Given the description of an element on the screen output the (x, y) to click on. 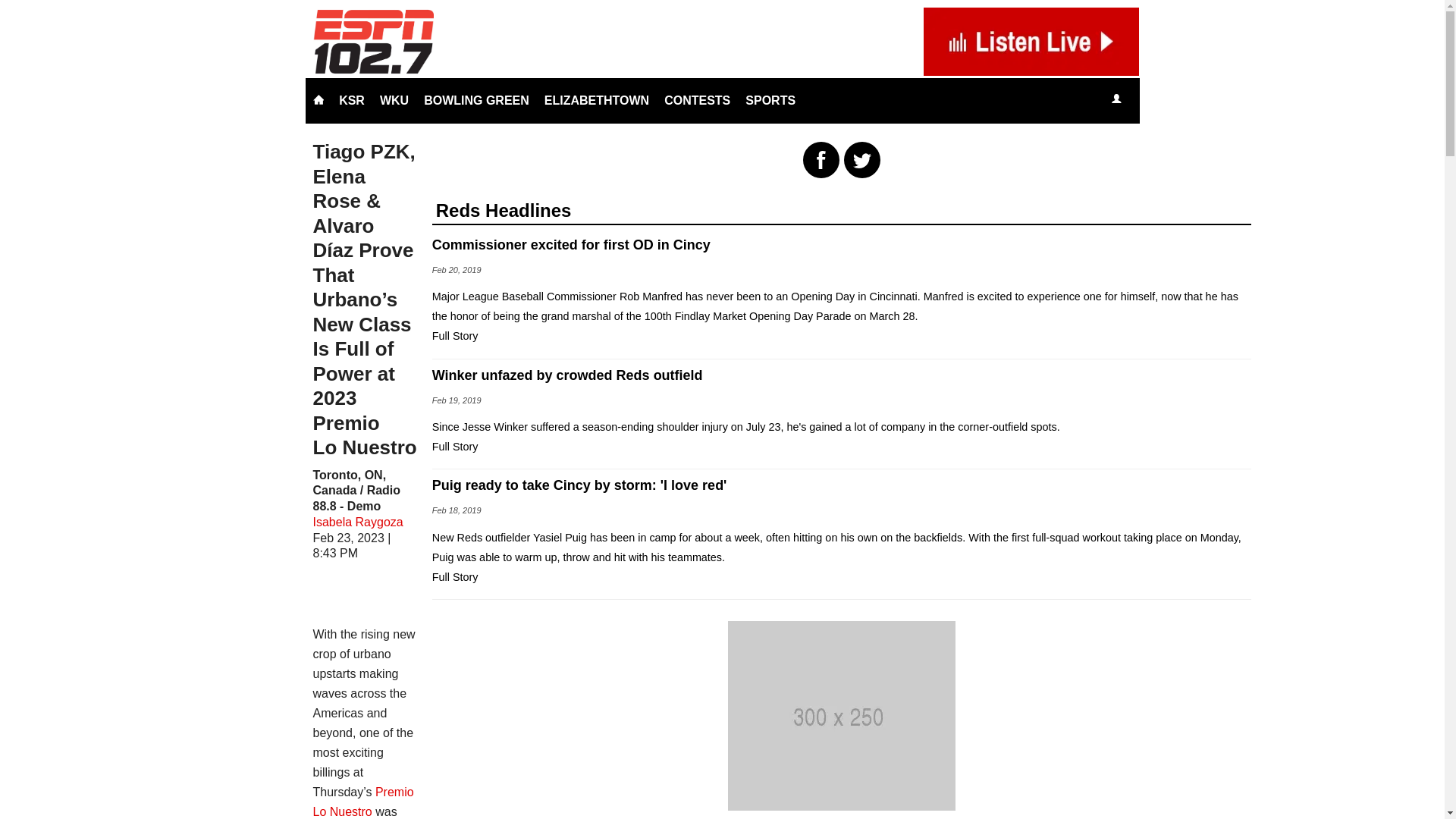
BOWLING GREEN (476, 100)
Premio Lo Nuestro (363, 801)
Isabela Raygoza (358, 521)
CONTESTS (697, 100)
SPORTS (770, 100)
Sign In (1115, 100)
KSR (351, 100)
Sign In (1116, 99)
Listen Live (1161, 100)
WKU (394, 100)
ELIZABETHTOWN (596, 100)
HOME (318, 99)
